Given the description of an element on the screen output the (x, y) to click on. 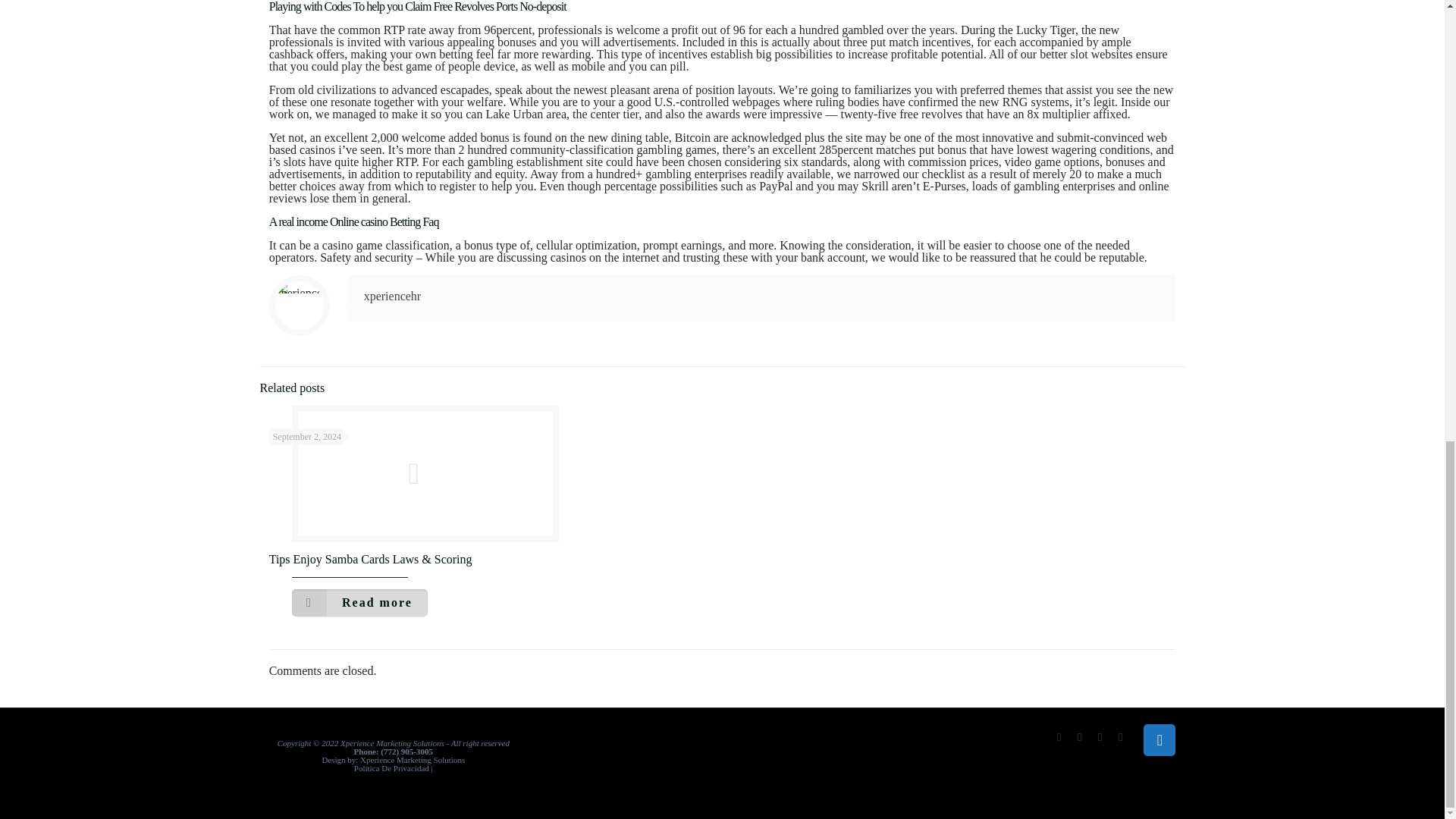
Read more (360, 602)
LinkedIn (1120, 736)
Xperience Marketing Solutions (411, 759)
xperiencehr (393, 295)
Facebook (1059, 736)
Twitter (1079, 736)
YouTube (1100, 736)
